Given the description of an element on the screen output the (x, y) to click on. 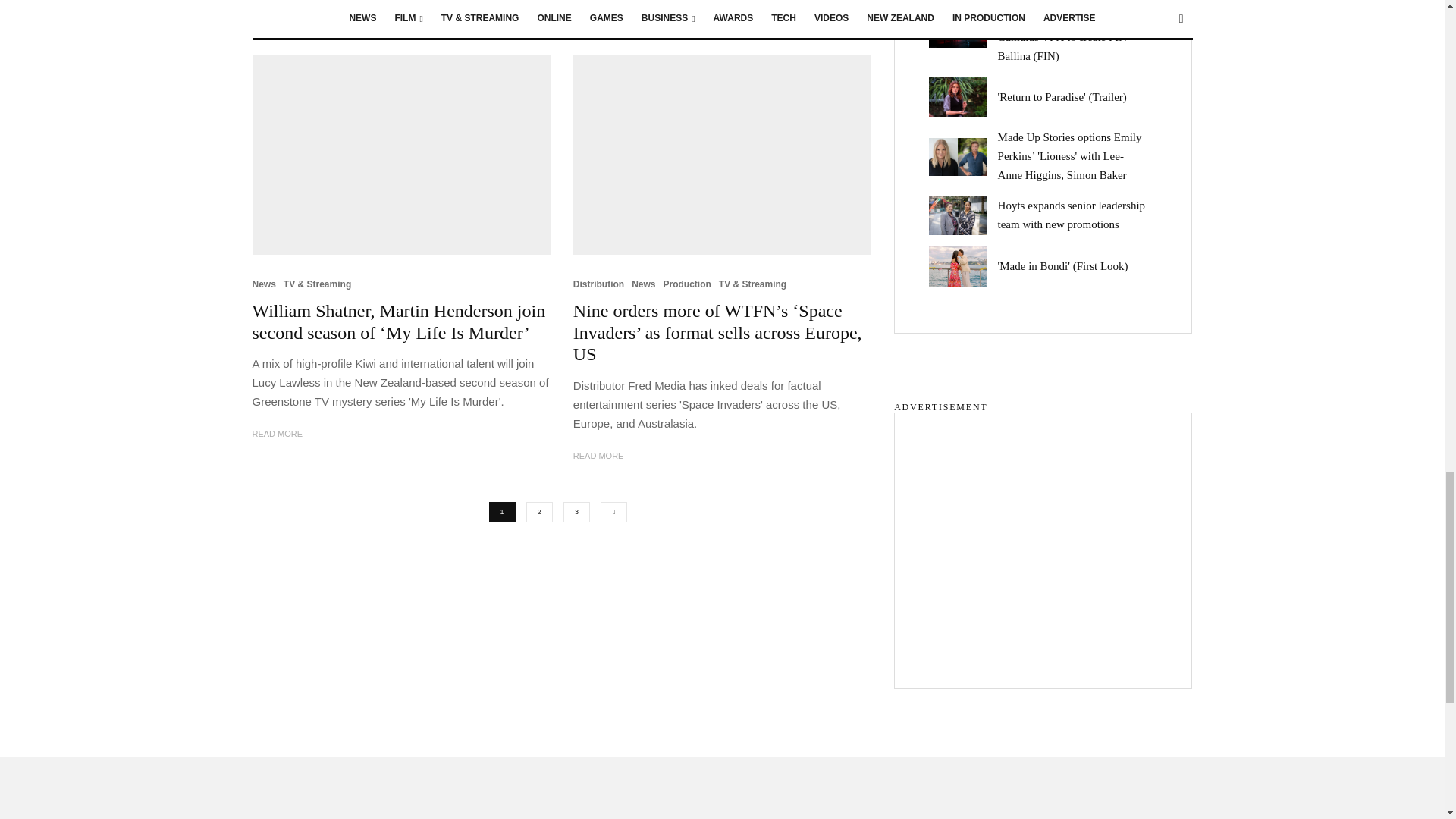
Hoyts expands senior leadership team with new promotions (1077, 215)
Hoyts expands senior leadership team with new promotions (962, 215)
3rd party ad content (1042, 542)
